Given the description of an element on the screen output the (x, y) to click on. 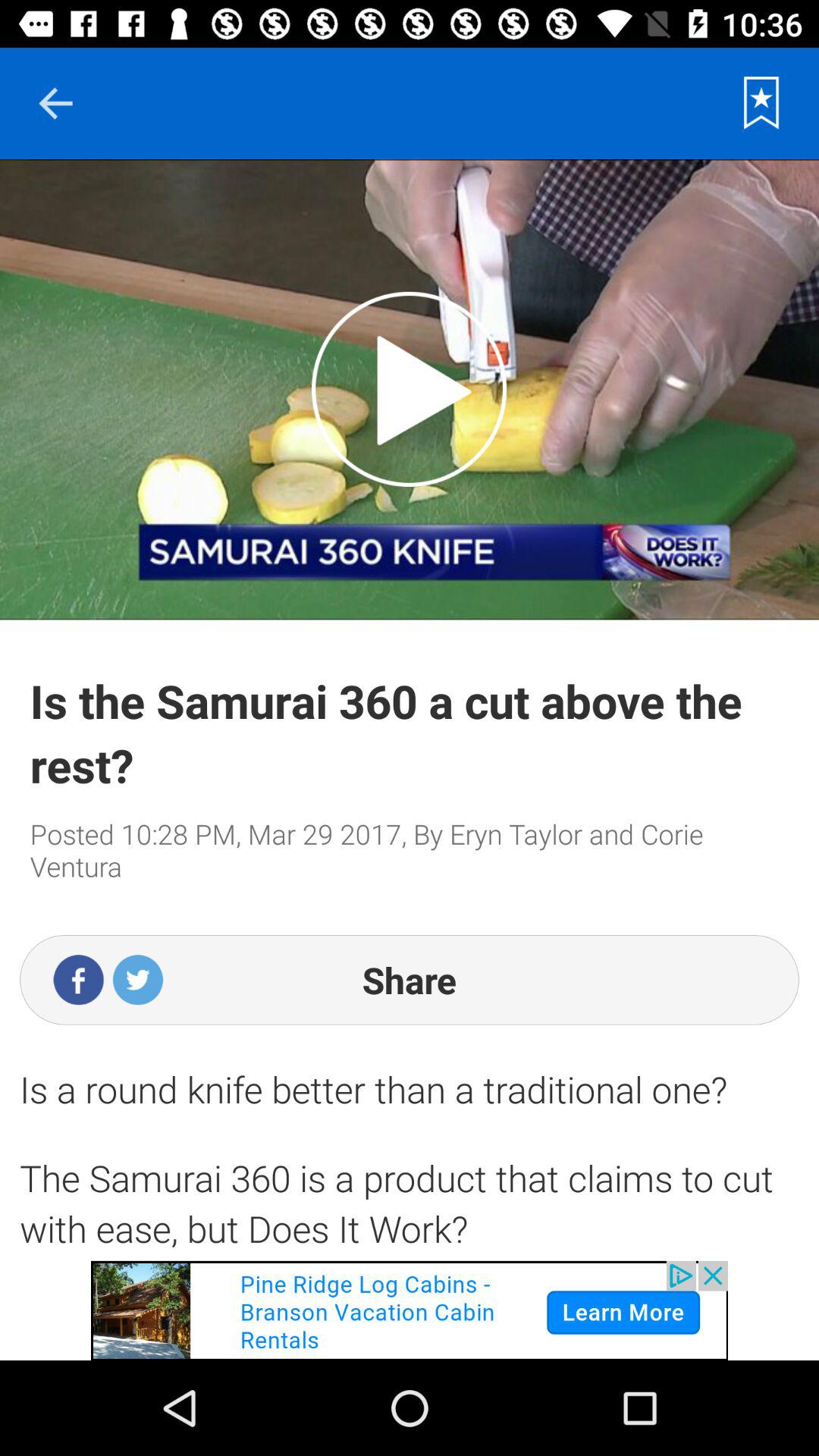
back icon (55, 103)
